Given the description of an element on the screen output the (x, y) to click on. 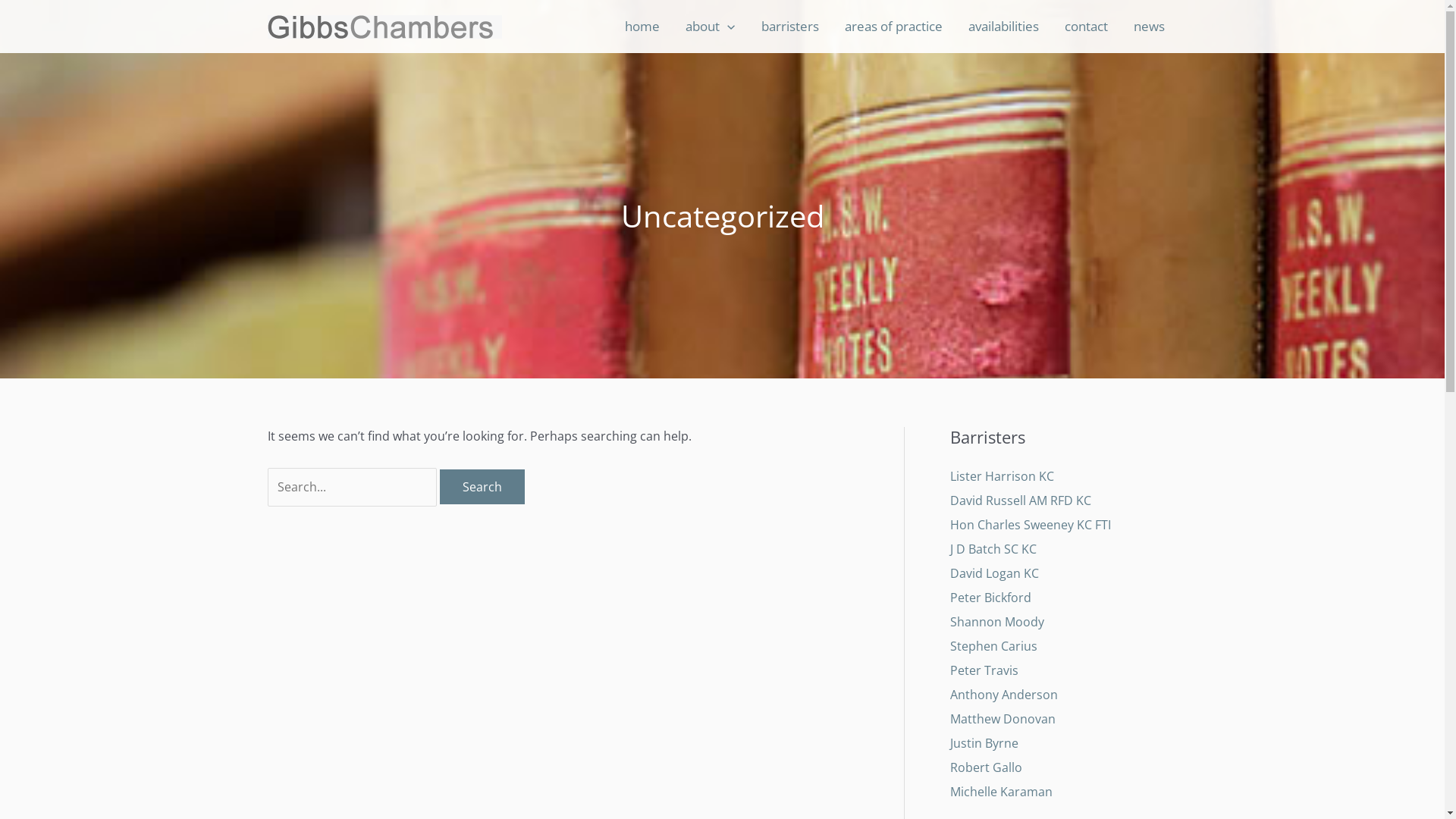
Justin Byrne Element type: text (983, 742)
Shannon Moody Element type: text (996, 621)
Peter Bickford Element type: text (989, 597)
Stephen Carius Element type: text (992, 645)
home Element type: text (641, 26)
news Element type: text (1148, 26)
Michelle Karaman Element type: text (1000, 791)
Lister Harrison KC Element type: text (1001, 475)
J D Batch SC KC Element type: text (992, 548)
Matthew Donovan Element type: text (1001, 718)
Robert Gallo Element type: text (985, 767)
areas of practice Element type: text (892, 26)
contact Element type: text (1085, 26)
about Element type: text (709, 26)
David Logan KC Element type: text (993, 572)
Search Element type: text (481, 486)
Peter Travis Element type: text (983, 670)
availabilities Element type: text (1003, 26)
Hon Charles Sweeney KC FTI Element type: text (1029, 524)
Anthony Anderson Element type: text (1003, 694)
David Russell AM RFD KC Element type: text (1019, 500)
barristers Element type: text (789, 26)
